Given the description of an element on the screen output the (x, y) to click on. 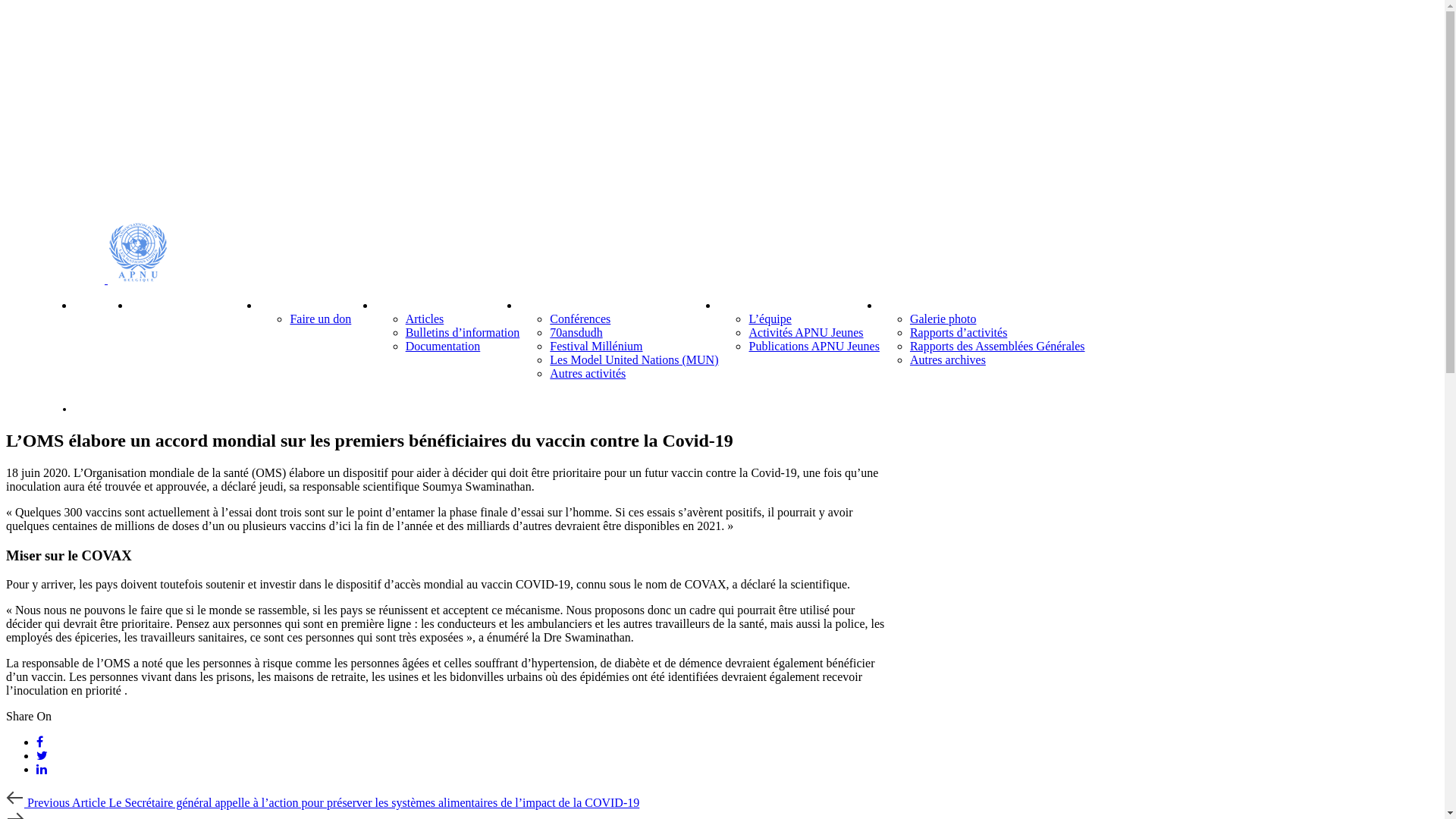
ARCHIVES Element type: text (911, 305)
Publications APNU Jeunes Element type: text (813, 345)
70ansdudh Element type: text (575, 332)
QUI SOMMES-NOUS ? Element type: text (194, 305)
Les Model United Nations (MUN) Element type: text (633, 359)
Articles Element type: text (424, 318)
DEVENIR MEMBRE Element type: text (316, 305)
Documentation Element type: text (442, 345)
Galerie photo Element type: text (943, 318)
APNU JEUNES Element type: text (760, 305)
Autres archives Element type: text (947, 359)
ACCUEIL Element type: text (102, 305)
Faire un don Element type: text (320, 318)
PUBLICATIONS Element type: text (421, 305)
Skip to content Element type: text (22, 31)
